Given the description of an element on the screen output the (x, y) to click on. 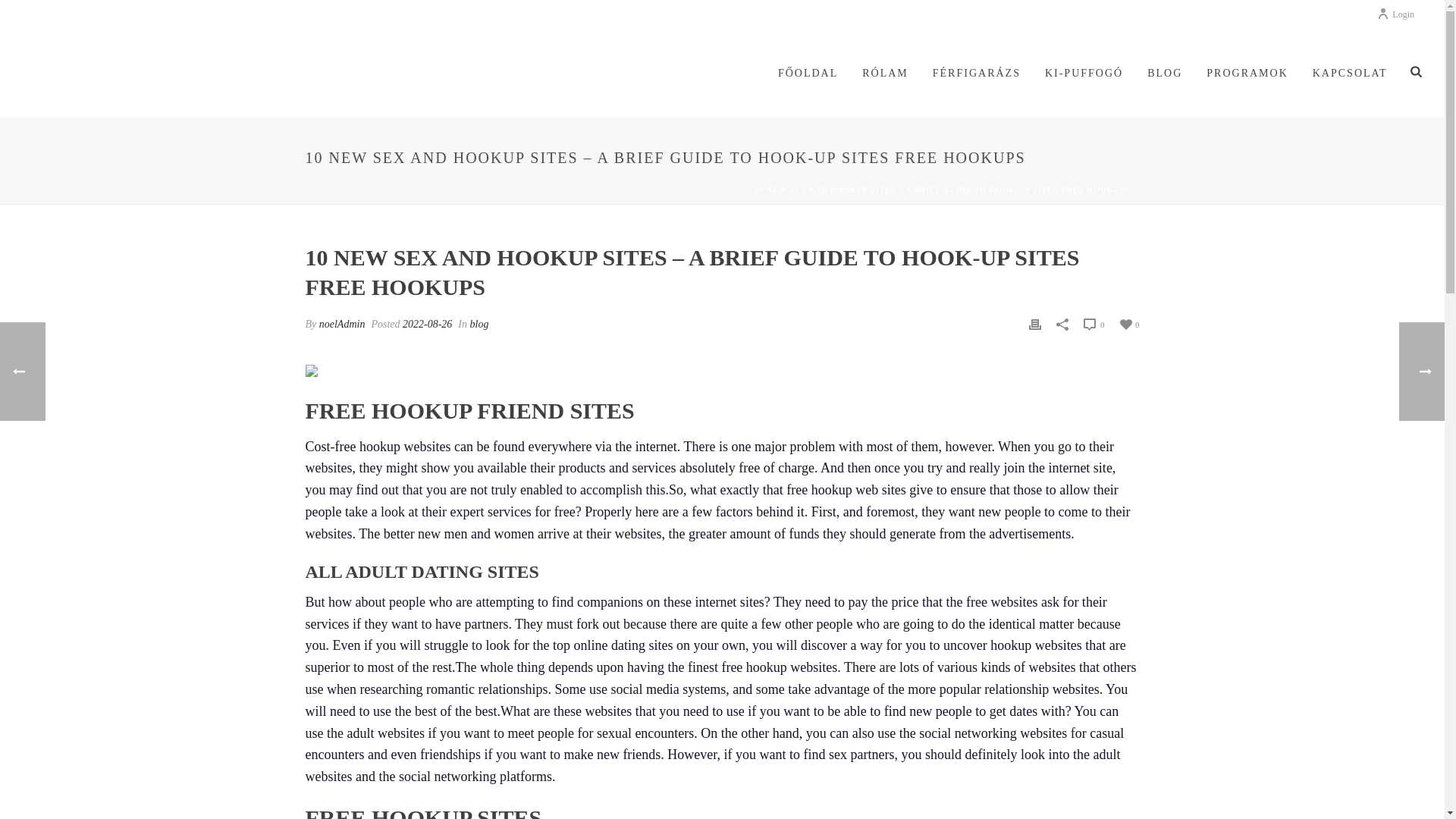
BLOG (734, 189)
0 (1128, 322)
noelAdmin (341, 324)
2022-08-26 (427, 324)
HOME (699, 189)
Login (1395, 14)
KAPCSOLAT (1349, 73)
PROGRAMOK (1246, 73)
blog (479, 324)
BLOG (1164, 73)
